Given the description of an element on the screen output the (x, y) to click on. 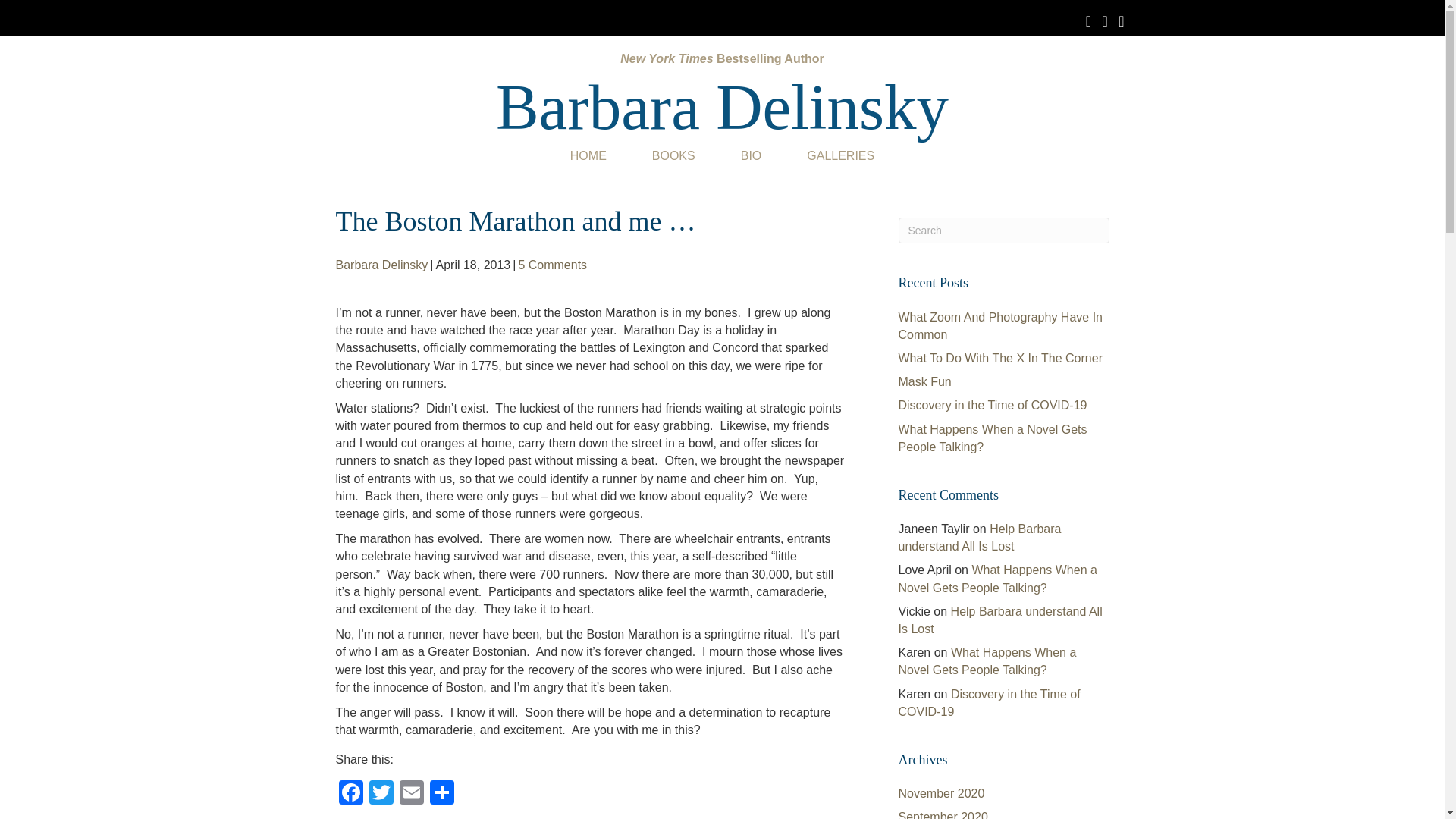
GALLERIES (840, 155)
Facebook (349, 794)
Facebook (349, 794)
Share (441, 794)
Barbara Delinsky (381, 264)
What Zoom And Photography Have In Common (1000, 326)
Twitter (380, 794)
BIO (750, 155)
Barbara Delinsky (722, 106)
Twitter (380, 794)
5 Comments (552, 264)
Type and press Enter to search. (1003, 230)
Discovery in the Time of COVID-19 (992, 404)
Barbara Delinsky (722, 106)
What To Do With The X In The Corner (1000, 358)
